Given the description of an element on the screen output the (x, y) to click on. 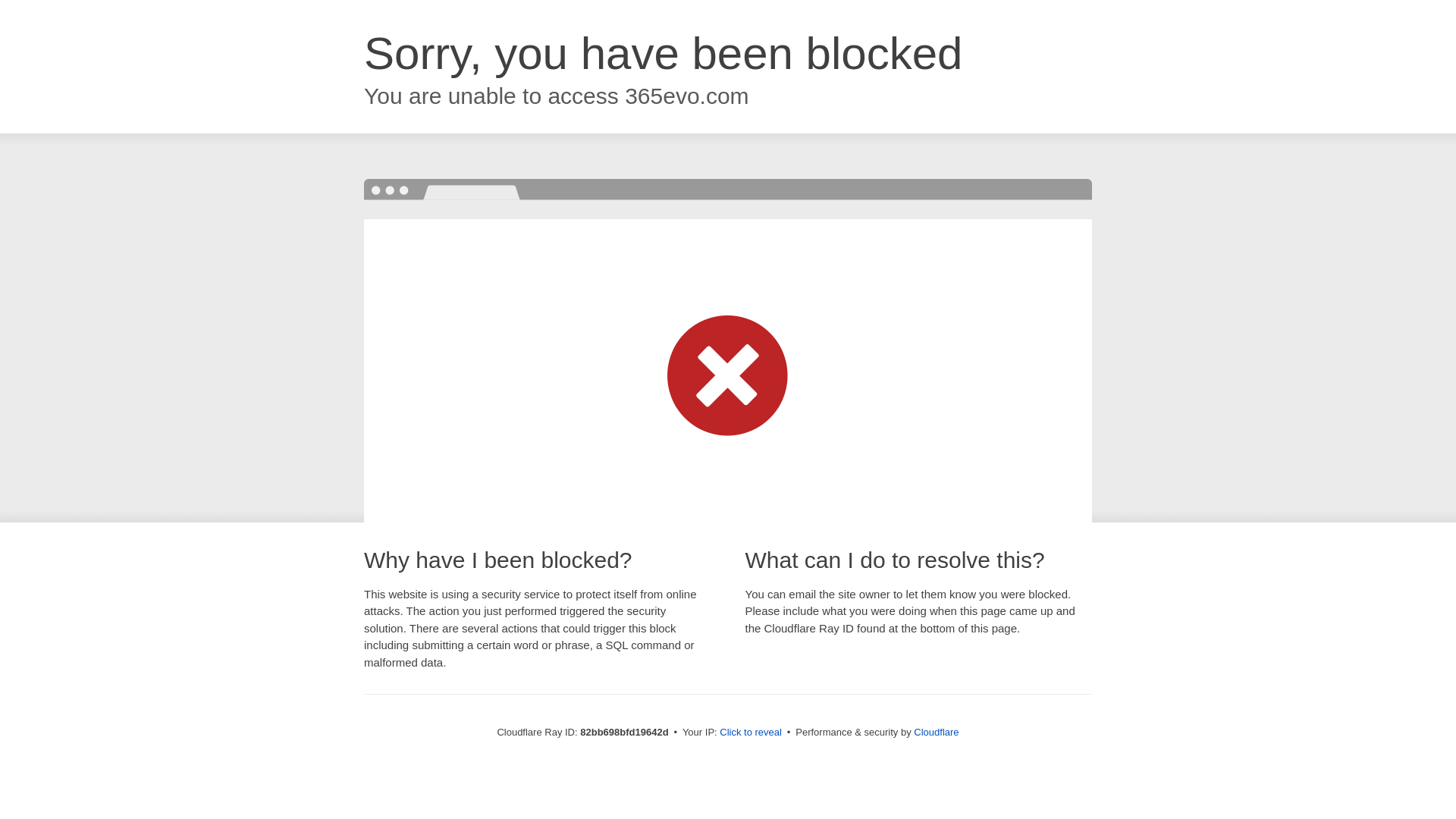
Click to reveal Element type: text (750, 732)
Cloudflare Element type: text (935, 731)
